Given the description of an element on the screen output the (x, y) to click on. 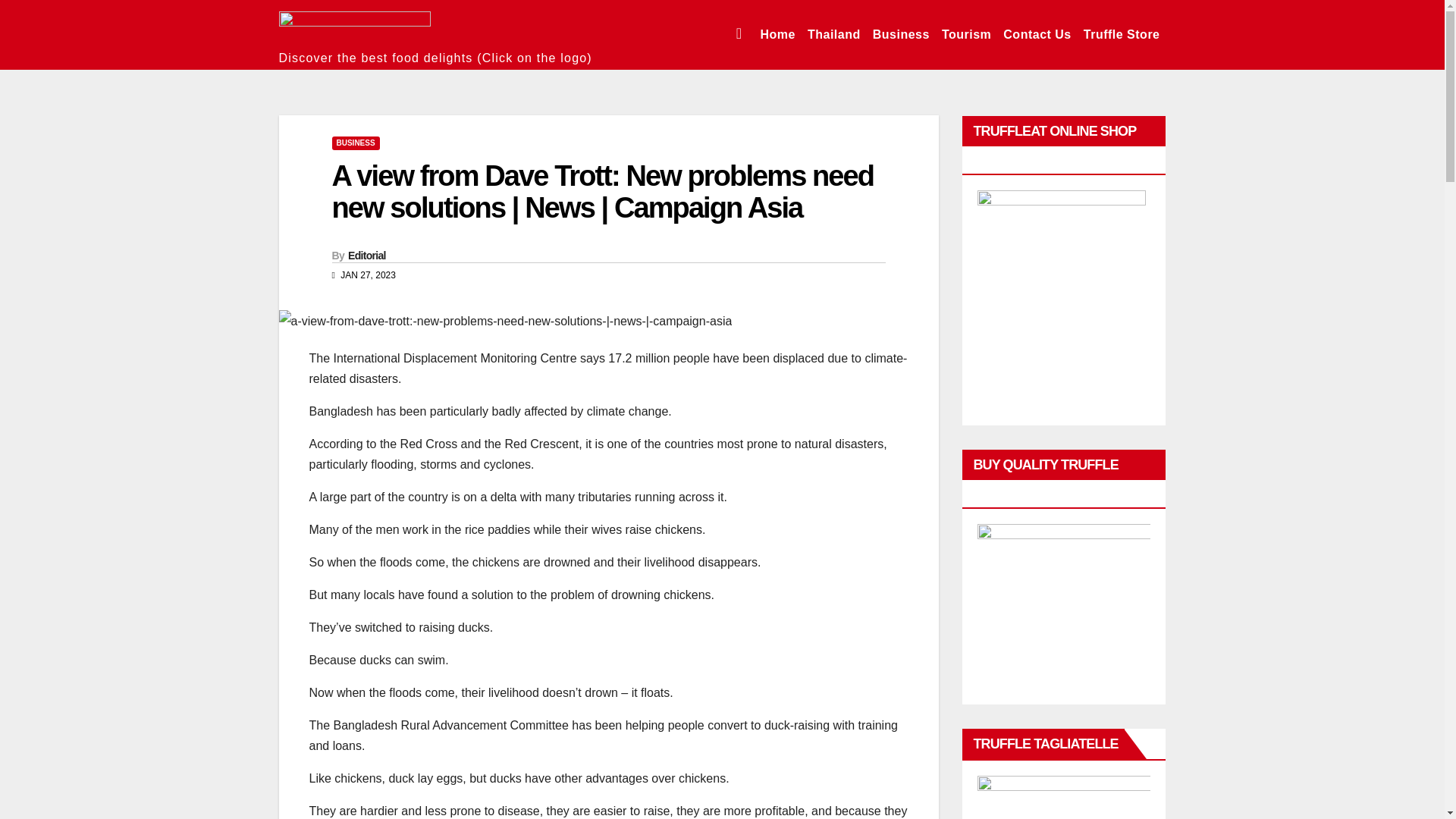
Contact Us (1037, 34)
Business (901, 34)
Truffle Store (1121, 34)
Business (901, 34)
Home (777, 34)
Truffle Store (1121, 34)
Tourism (966, 34)
Tourism (966, 34)
Editorial (366, 255)
Home (777, 34)
BUSINESS (355, 142)
Thailand (834, 34)
Contact Us (1037, 34)
Thailand (834, 34)
